Given the description of an element on the screen output the (x, y) to click on. 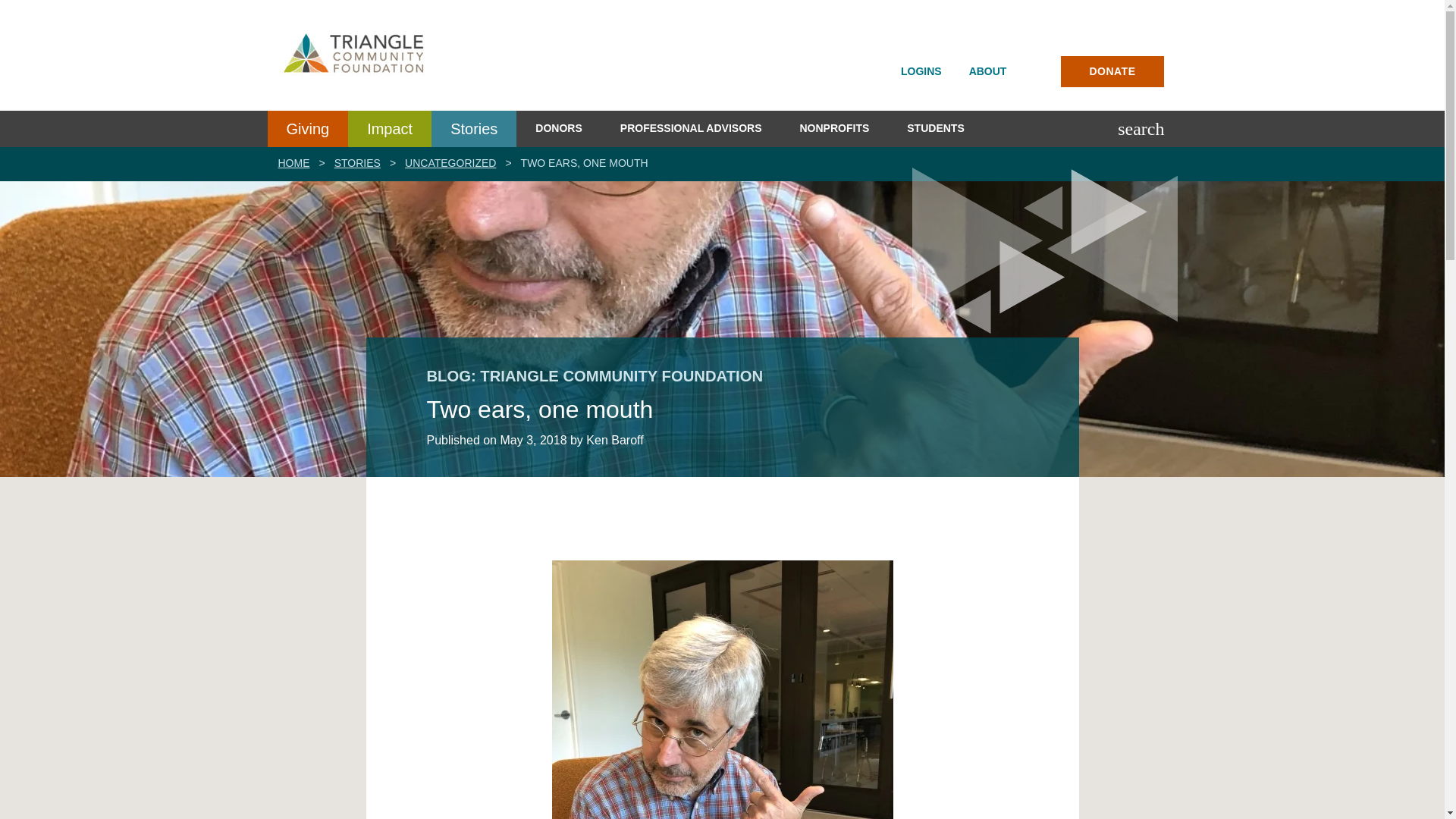
NONPROFITS (834, 128)
Stories (473, 128)
Impact (388, 128)
DONORS (557, 128)
Giving (306, 128)
PROFESSIONAL ADVISORS (690, 128)
